Given the description of an element on the screen output the (x, y) to click on. 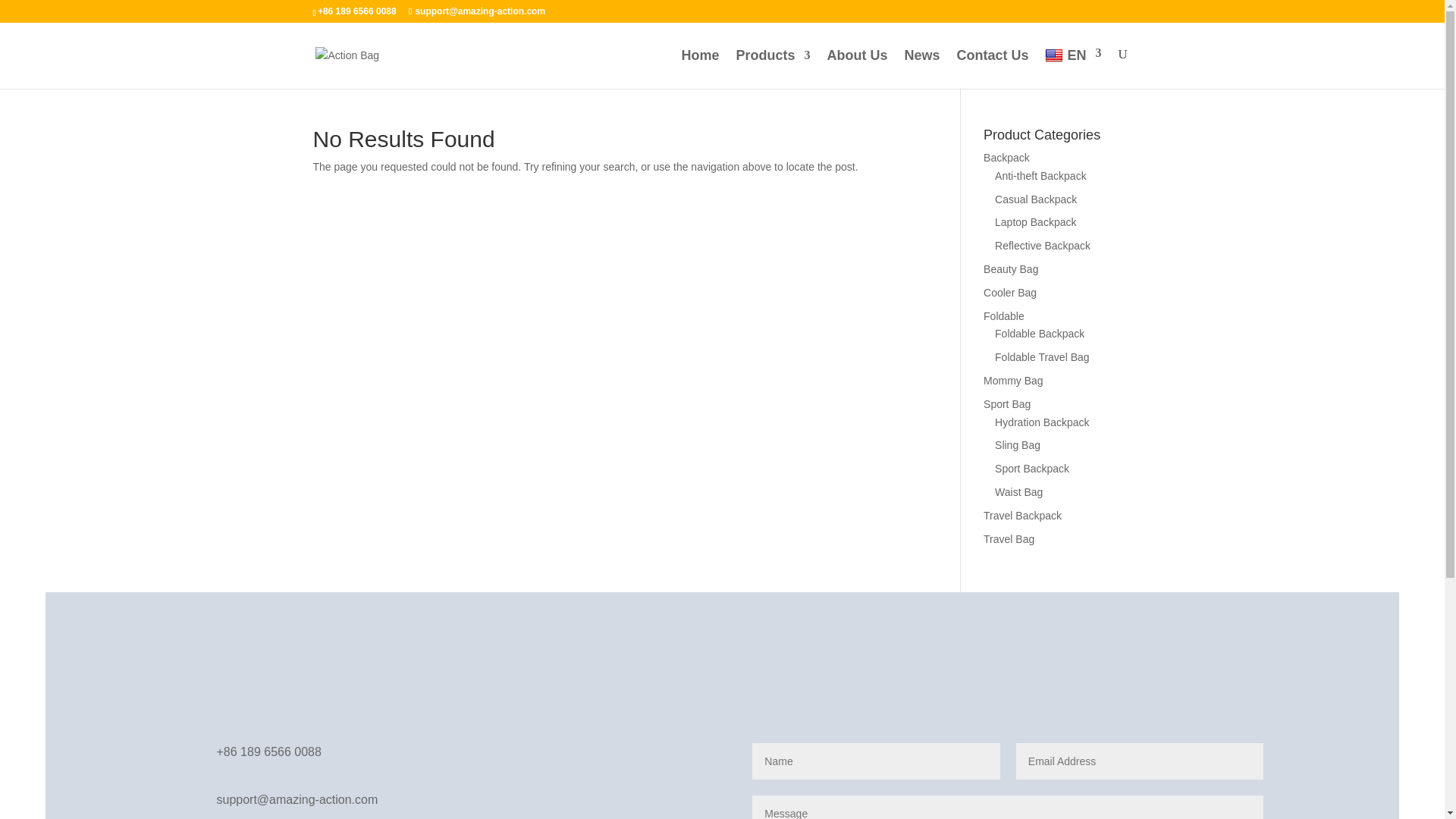
Anti-theft Backpack (1040, 175)
Laptop Backpack (1034, 222)
Casual Backpack (1035, 199)
Contact Us (991, 67)
Backpack (1006, 157)
Reflective Backpack (1042, 245)
News (921, 67)
Products (772, 67)
English (1072, 67)
Home (700, 67)
EN (1072, 67)
About Us (856, 67)
